Given the description of an element on the screen output the (x, y) to click on. 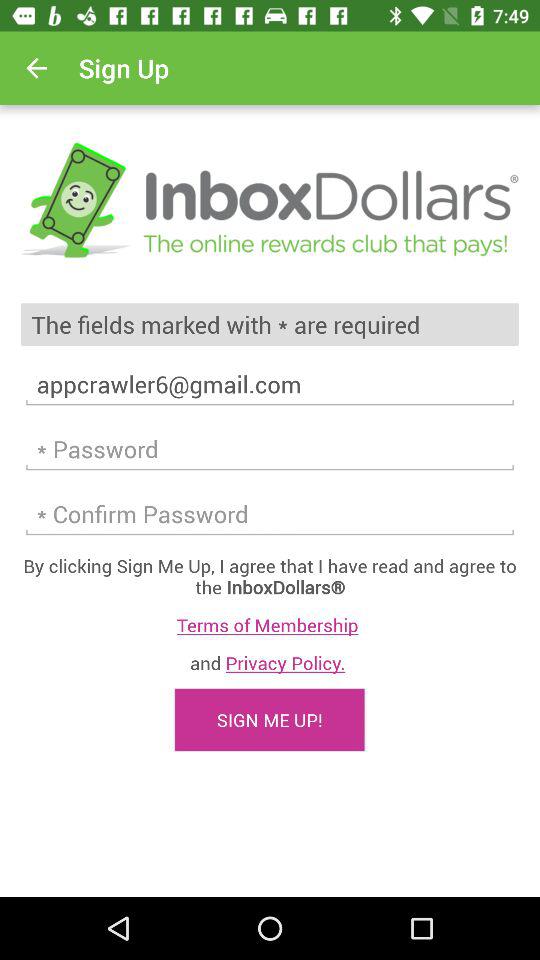
type in password (270, 514)
